Given the description of an element on the screen output the (x, y) to click on. 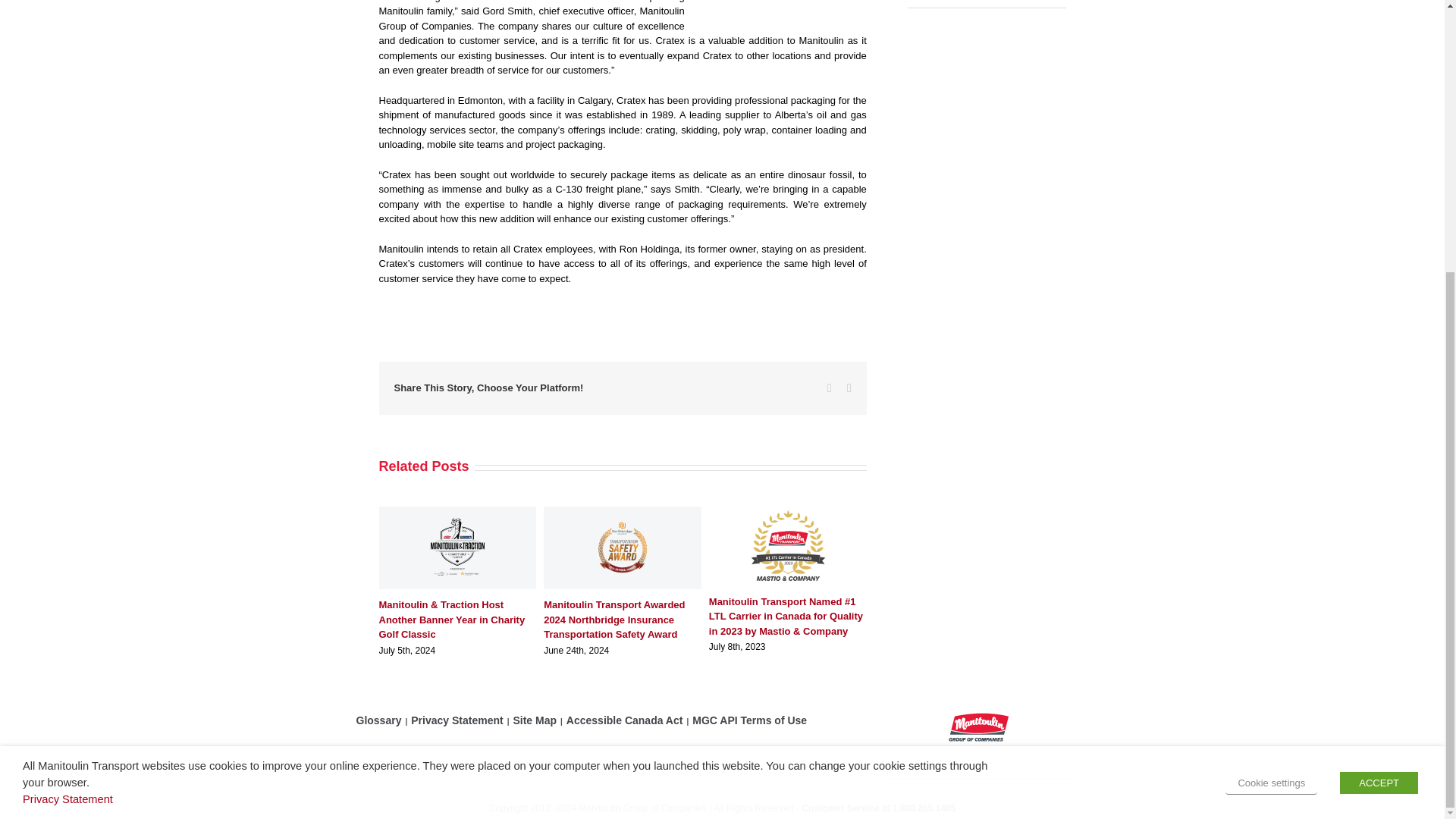
Manitoulin Transport Logo (979, 727)
